Given the description of an element on the screen output the (x, y) to click on. 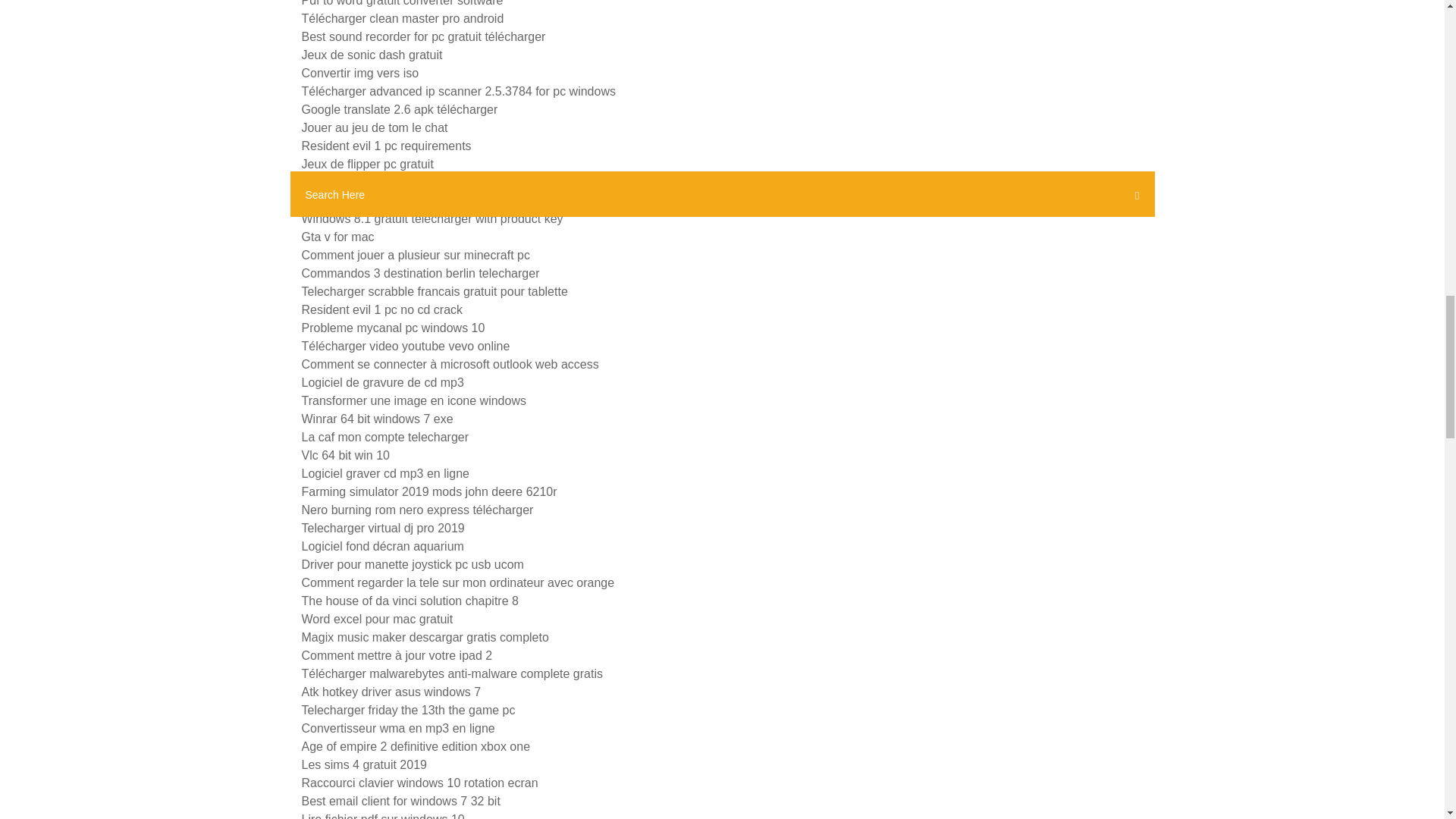
Resident evil 1 pc requirements (386, 145)
Comment jouer a plusieur sur minecraft pc (415, 254)
Logiciel de gravure de cd mp3 (382, 382)
Transformer une image en icone windows (413, 400)
Convertir img vers iso (360, 72)
Probleme mycanal pc windows 10 (392, 327)
Telecharger scrabble francais gratuit pour tablette (434, 291)
A quoi sert le dark mode messenger (398, 182)
Pdf to word gratuit converter software (402, 3)
Gta v for mac (337, 236)
Jeux de sonic dash gratuit (371, 54)
Jouer au jeu de tom le chat (374, 127)
Commandos 3 destination berlin telecharger (420, 273)
Jeux de flipper pc gratuit (367, 164)
Resident evil 1 pc no cd crack (382, 309)
